Given the description of an element on the screen output the (x, y) to click on. 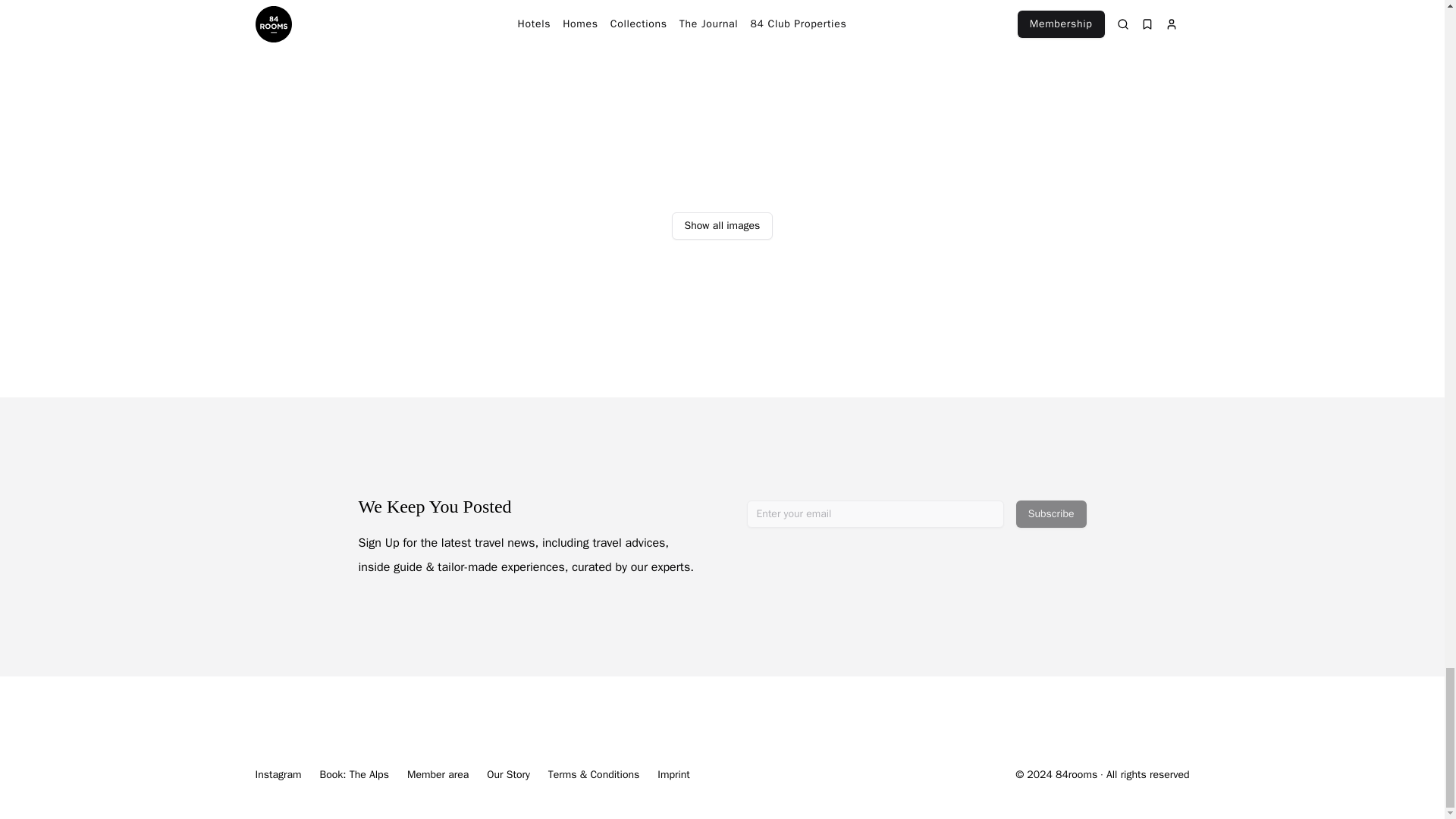
Subscribe (1051, 513)
Show all images (722, 225)
Instagram (277, 774)
Member area (437, 774)
Imprint (674, 774)
Book: The Alps (353, 774)
Our Story (507, 774)
